Given the description of an element on the screen output the (x, y) to click on. 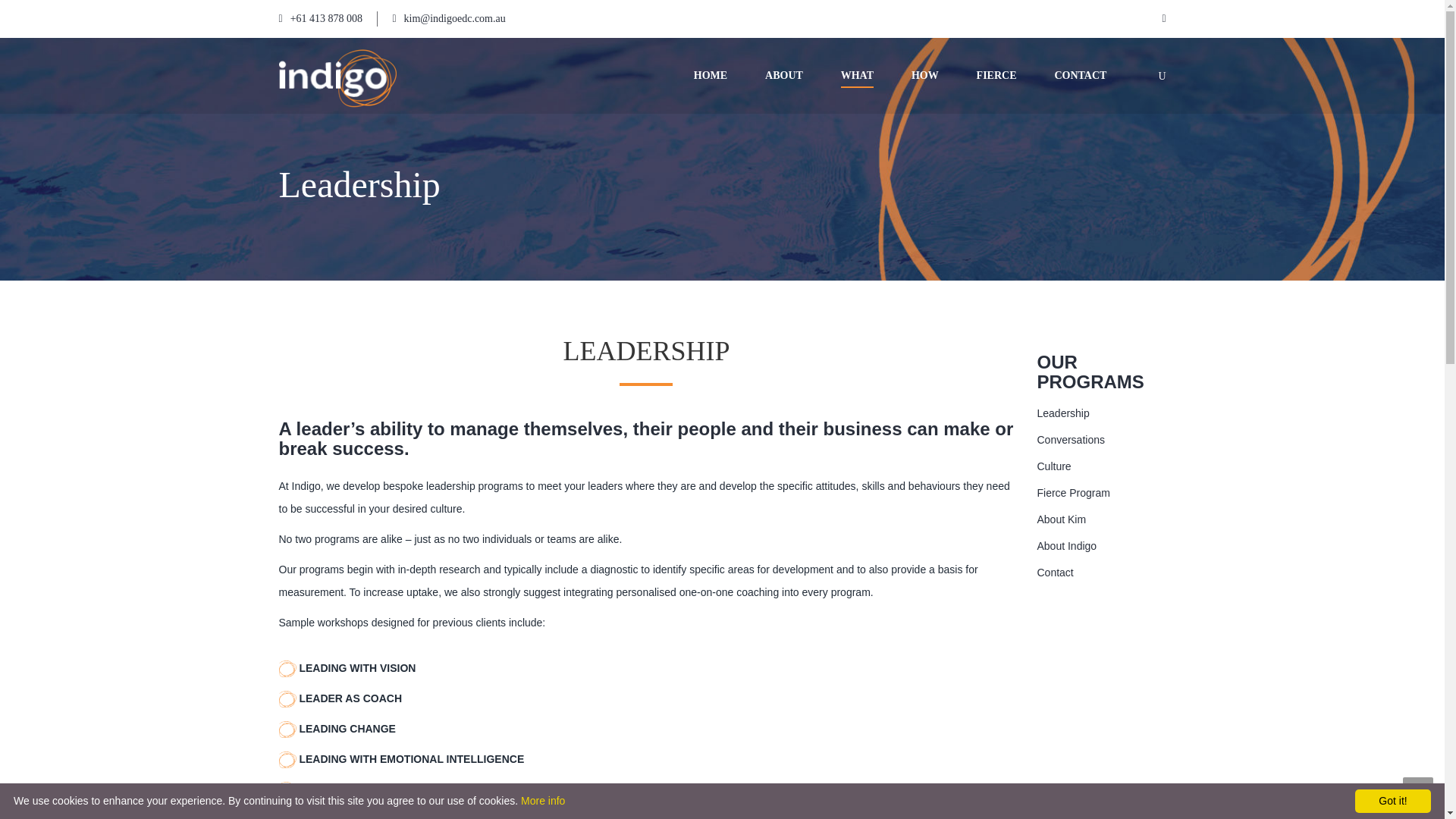
Contact (1054, 572)
About Indigo (1066, 545)
About Kim (1061, 519)
Culture (1053, 466)
Conversations (1070, 439)
Fierce Program (1072, 492)
Indigo (337, 77)
Search (1144, 130)
Leadership (1062, 413)
